Given the description of an element on the screen output the (x, y) to click on. 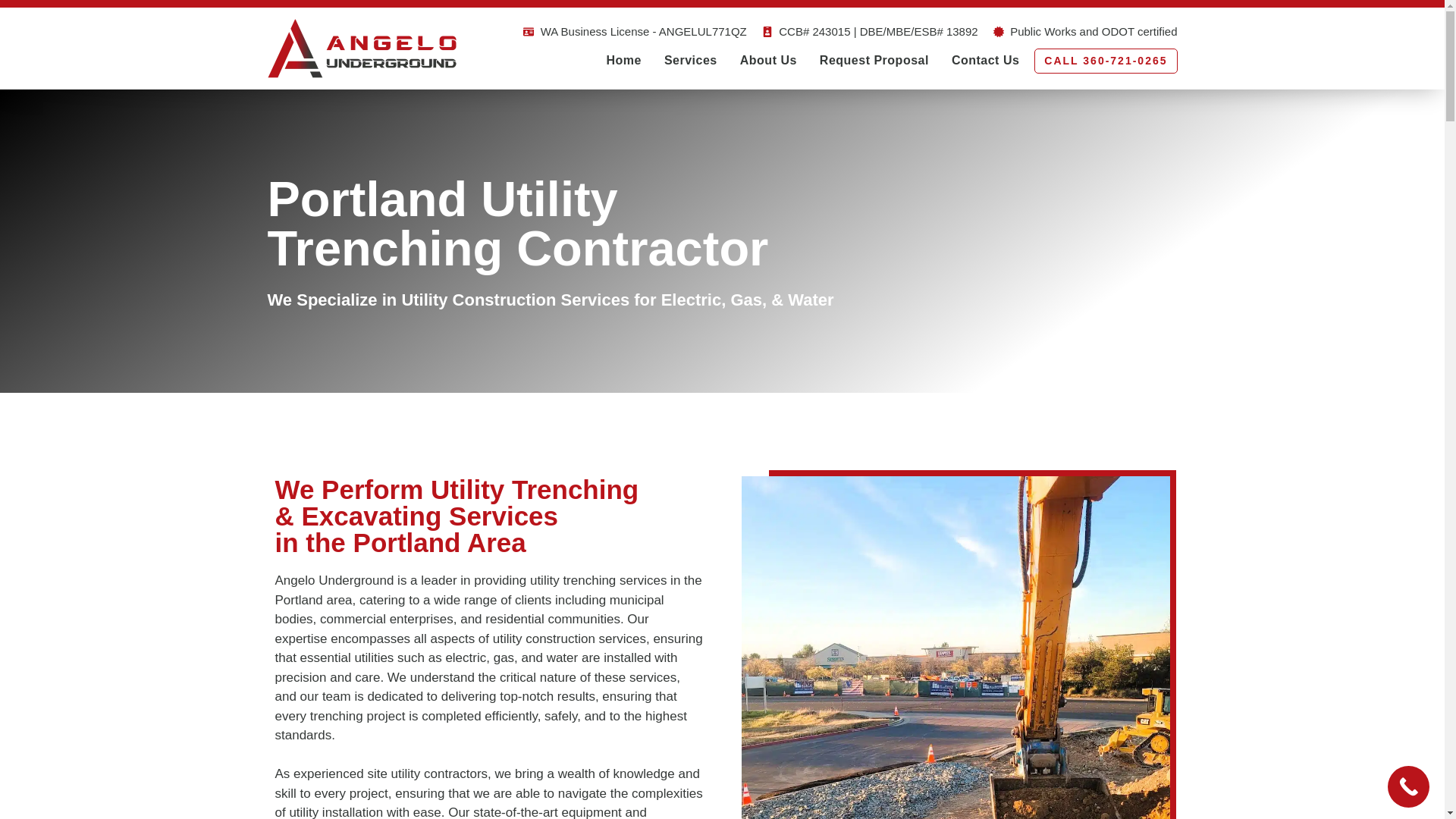
CALL 360-721-0265 (1104, 61)
Request Proposal (873, 60)
Services (690, 60)
Contact Us (985, 60)
Home (622, 60)
About Us (767, 60)
